Given the description of an element on the screen output the (x, y) to click on. 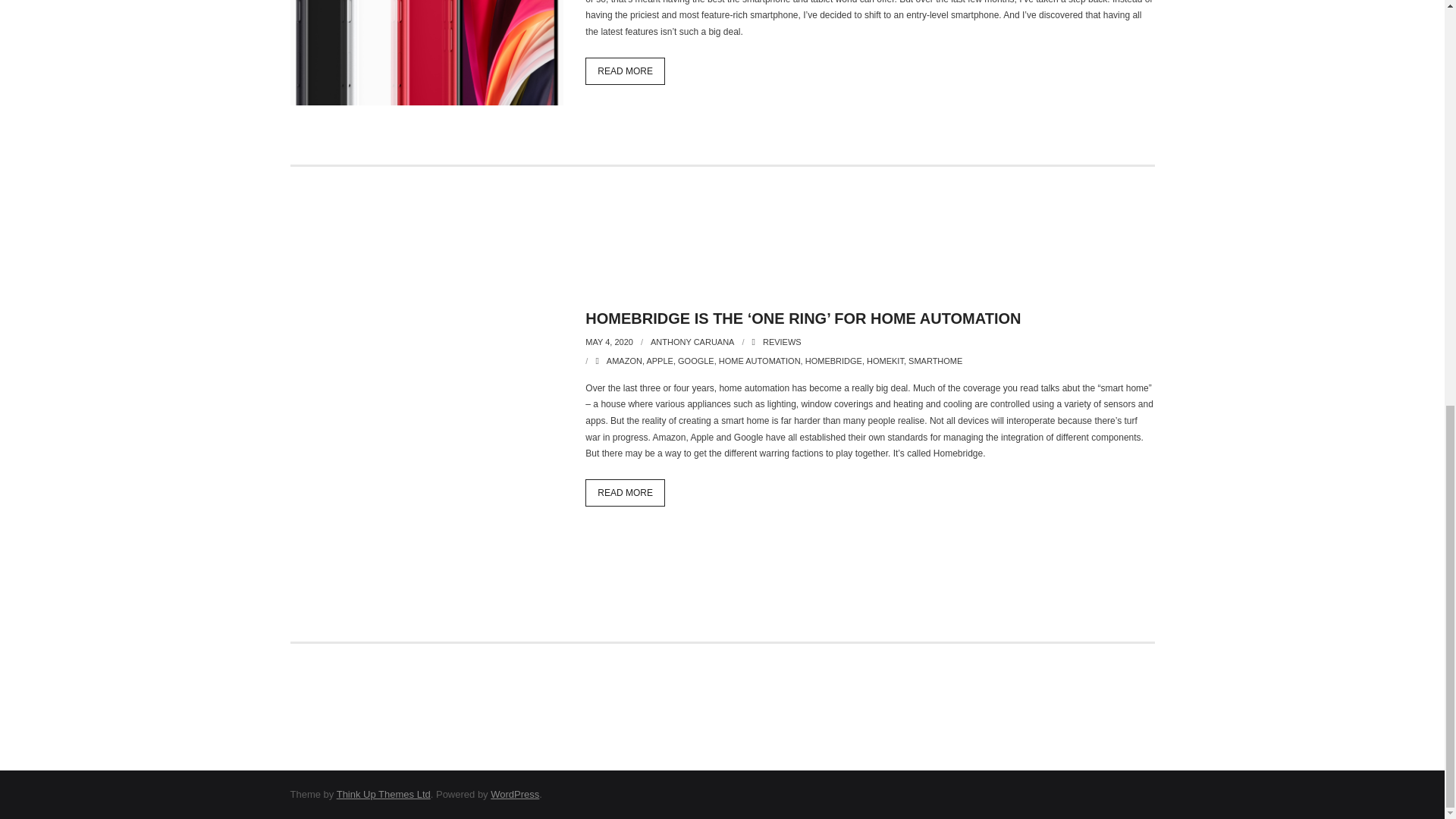
MAY 4, 2020 (609, 341)
READ MORE (625, 71)
View all posts by Anthony Caruana (691, 341)
